Given the description of an element on the screen output the (x, y) to click on. 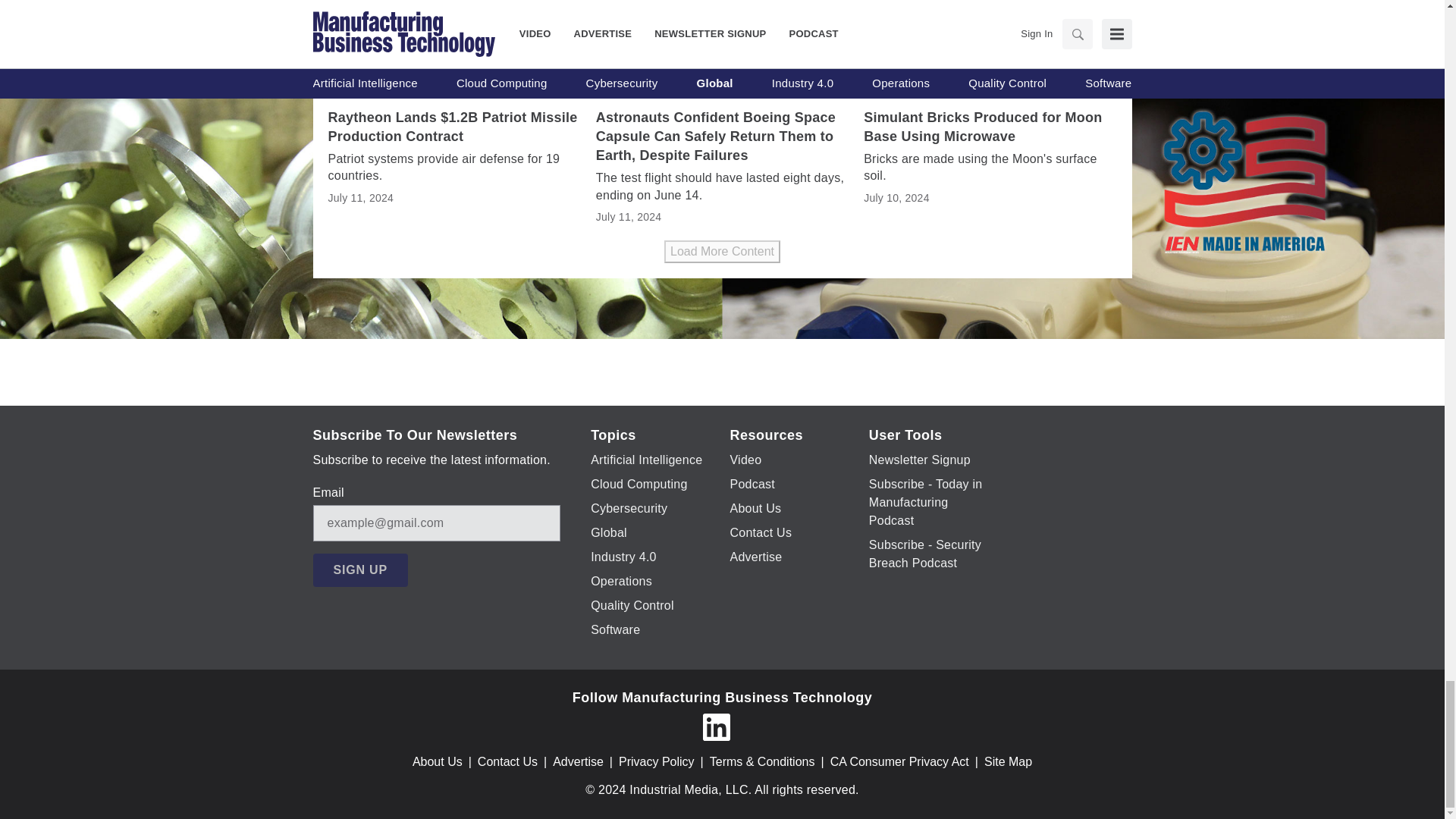
LinkedIn icon (715, 727)
